Given the description of an element on the screen output the (x, y) to click on. 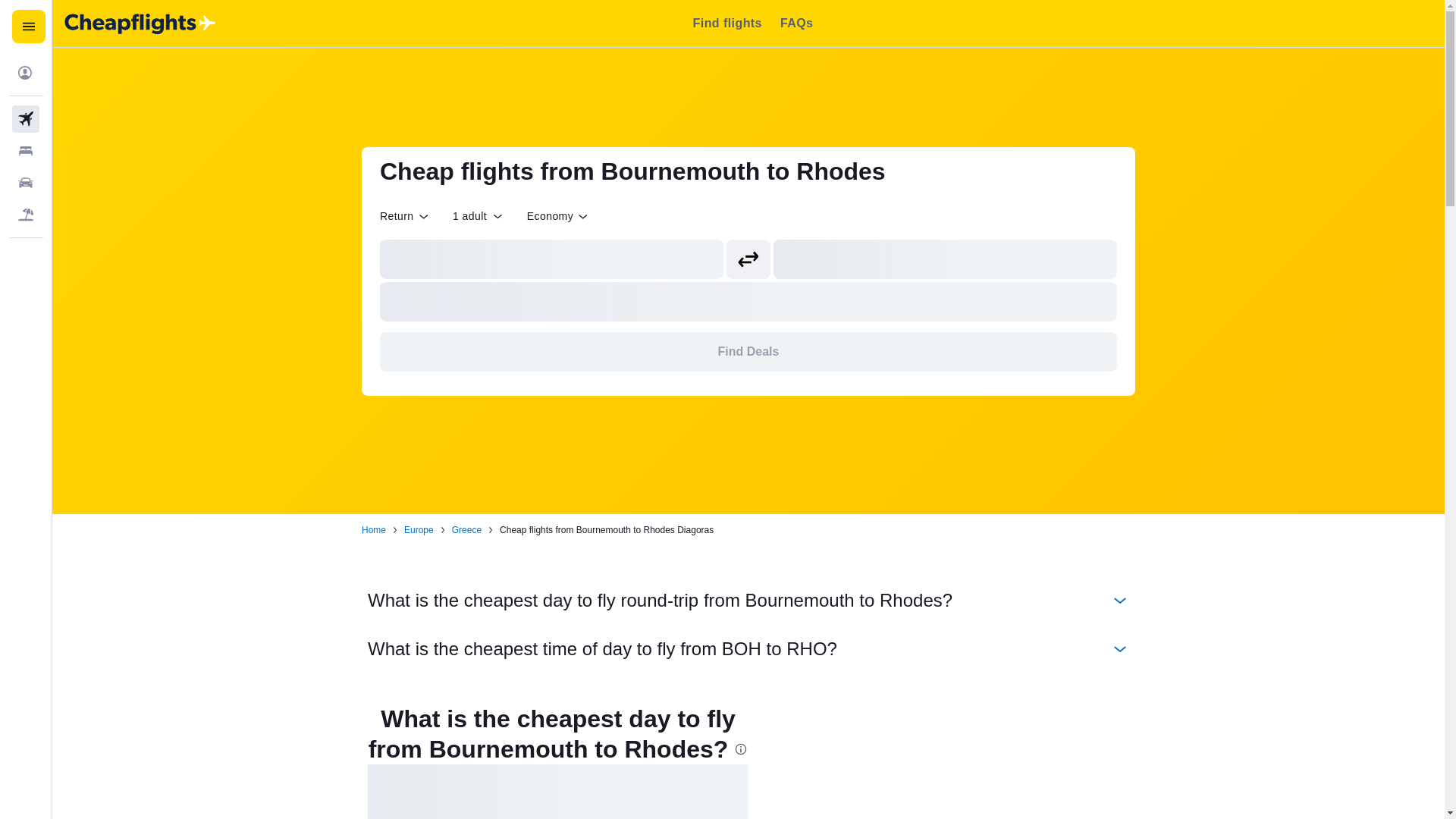
Greece (466, 530)
Find Deals (748, 351)
Europe (418, 530)
Home (373, 530)
Find Deals (748, 351)
